Given the description of an element on the screen output the (x, y) to click on. 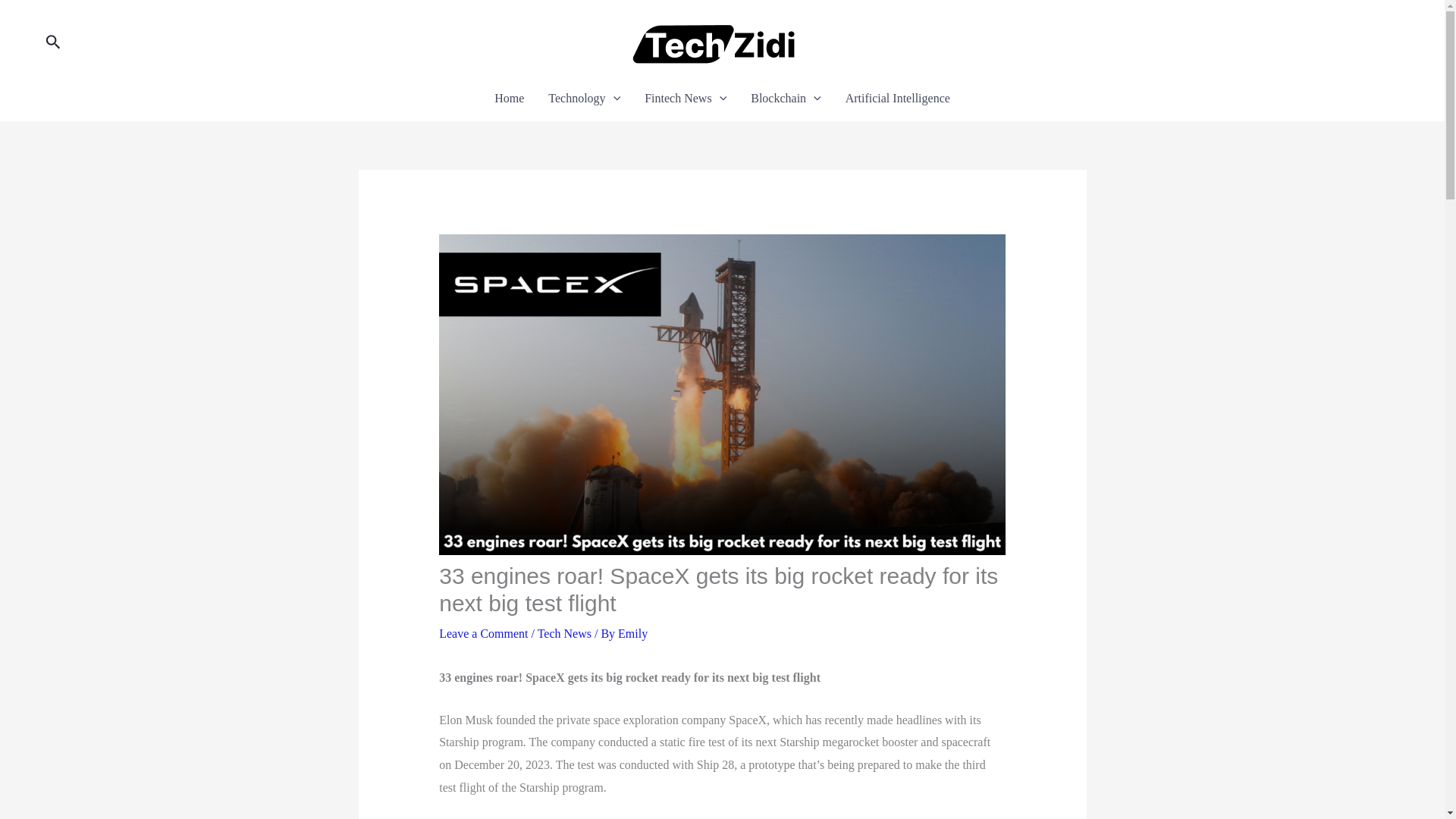
Artificial Intelligence (897, 97)
Technology (583, 97)
Leave a Comment (483, 633)
Tech News (564, 633)
Home (508, 97)
Fintech News (684, 97)
Emily (632, 633)
View all posts by Emily (632, 633)
Blockchain (785, 97)
